Given the description of an element on the screen output the (x, y) to click on. 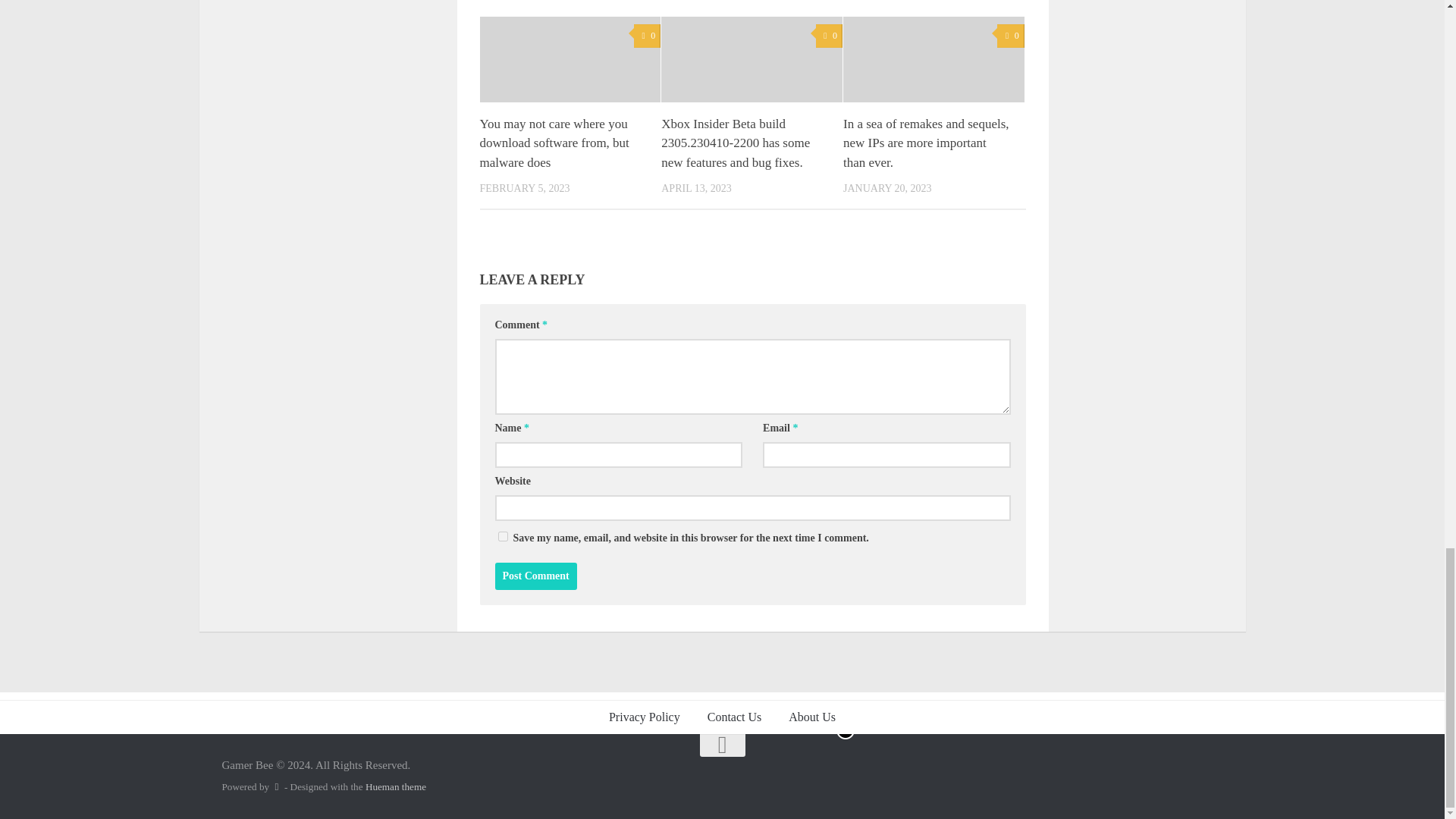
0 (1010, 35)
Hueman theme (395, 786)
Post Comment (535, 575)
Post Comment (535, 575)
Hueman theme (395, 786)
About Us (811, 717)
Contact Us (735, 717)
yes (501, 536)
Privacy Policy (644, 717)
Powered by WordPress (275, 786)
0 (647, 35)
0 (829, 35)
